Given the description of an element on the screen output the (x, y) to click on. 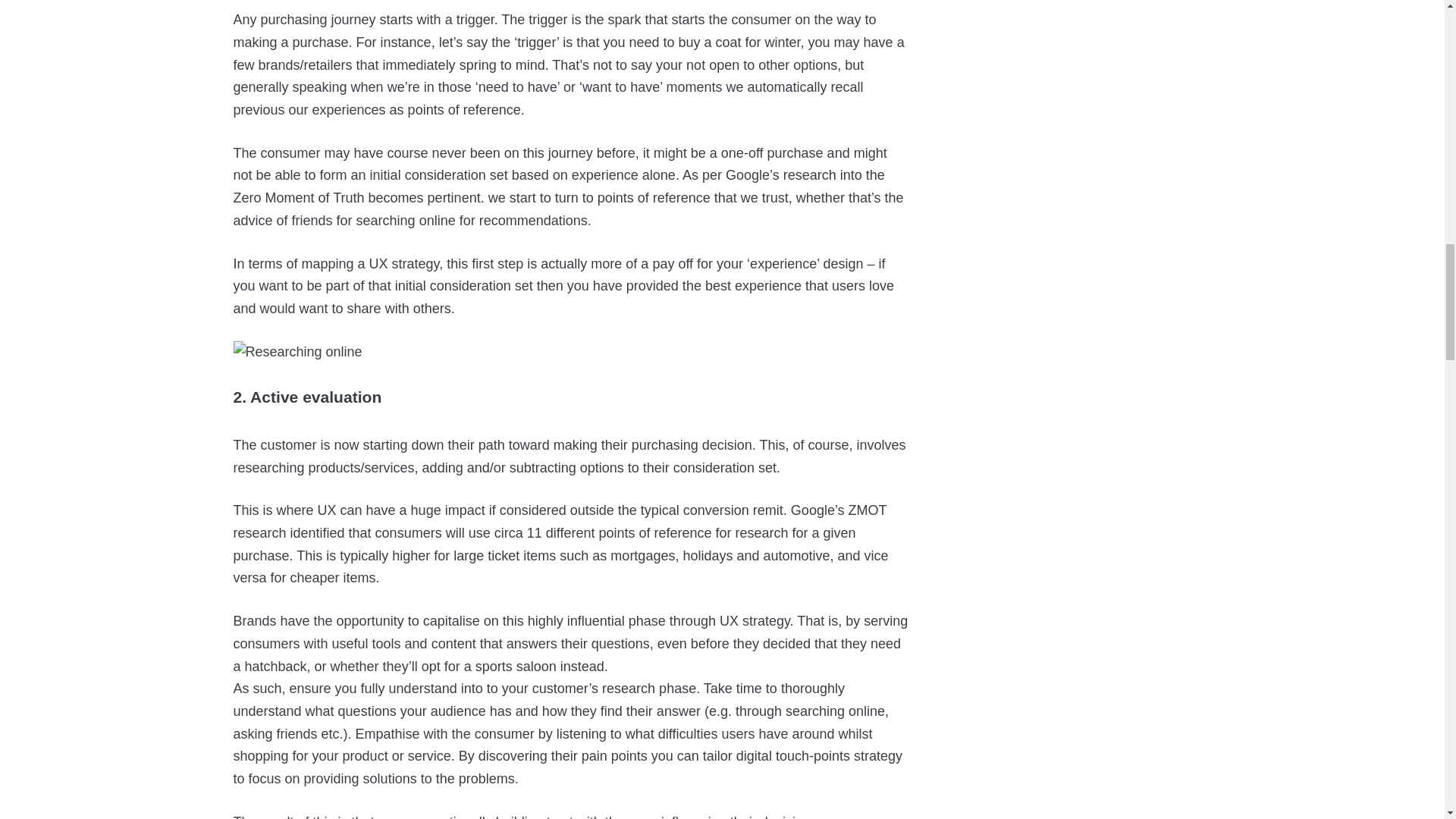
Understanding UX in the purchasing journey 5 (297, 352)
